Given the description of an element on the screen output the (x, y) to click on. 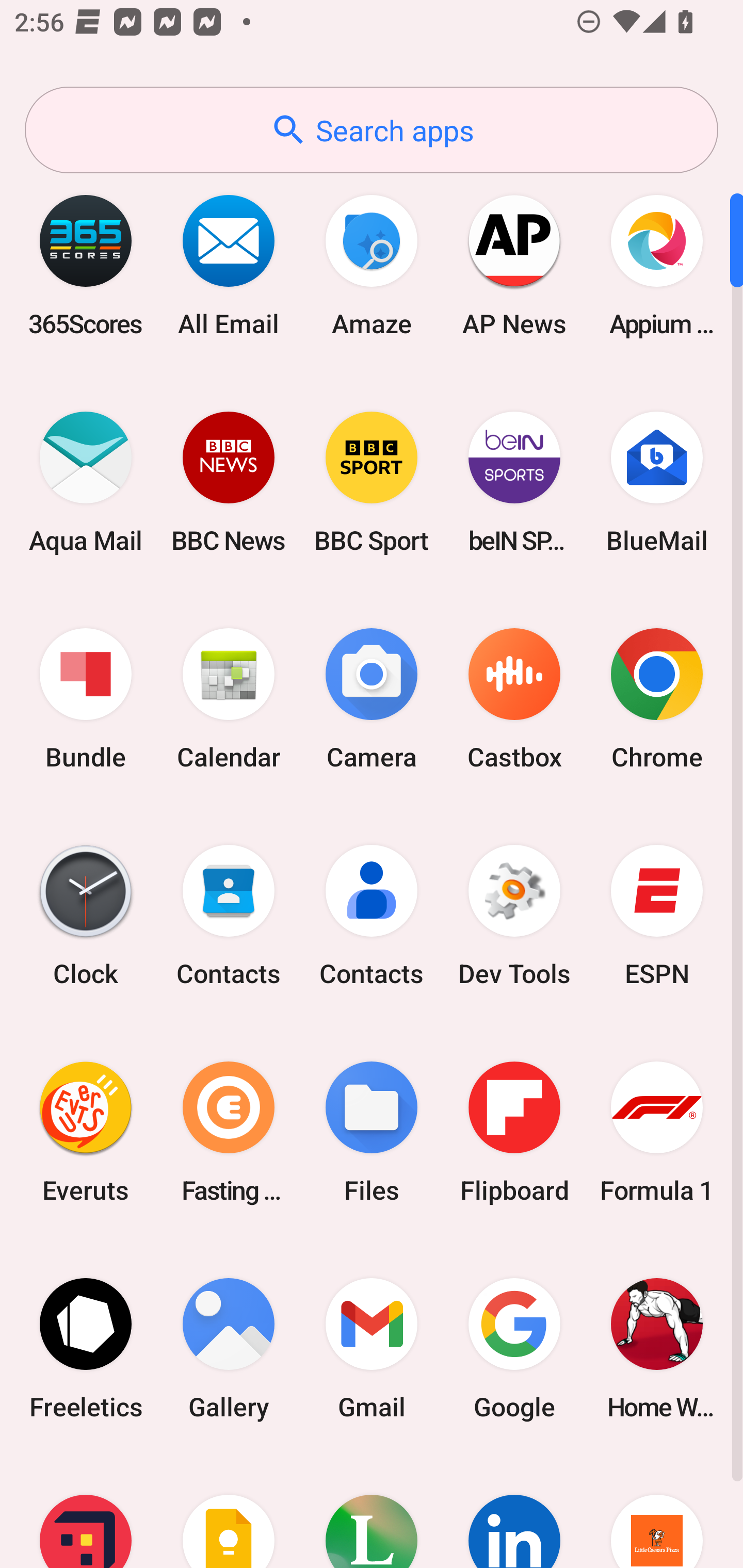
  Search apps (371, 130)
365Scores (85, 264)
All Email (228, 264)
Amaze (371, 264)
AP News (514, 264)
Appium Settings (656, 264)
Aqua Mail (85, 482)
BBC News (228, 482)
BBC Sport (371, 482)
beIN SPORTS (514, 482)
BlueMail (656, 482)
Bundle (85, 699)
Calendar (228, 699)
Camera (371, 699)
Castbox (514, 699)
Chrome (656, 699)
Clock (85, 915)
Contacts (228, 915)
Contacts (371, 915)
Dev Tools (514, 915)
ESPN (656, 915)
Everuts (85, 1131)
Fasting Coach (228, 1131)
Files (371, 1131)
Flipboard (514, 1131)
Formula 1 (656, 1131)
Freeletics (85, 1348)
Gallery (228, 1348)
Gmail (371, 1348)
Google (514, 1348)
Home Workout (656, 1348)
Hotels.com (85, 1512)
Keep Notes (228, 1512)
Lifesum (371, 1512)
LinkedIn (514, 1512)
Little Caesars Pizza (656, 1512)
